Given the description of an element on the screen output the (x, y) to click on. 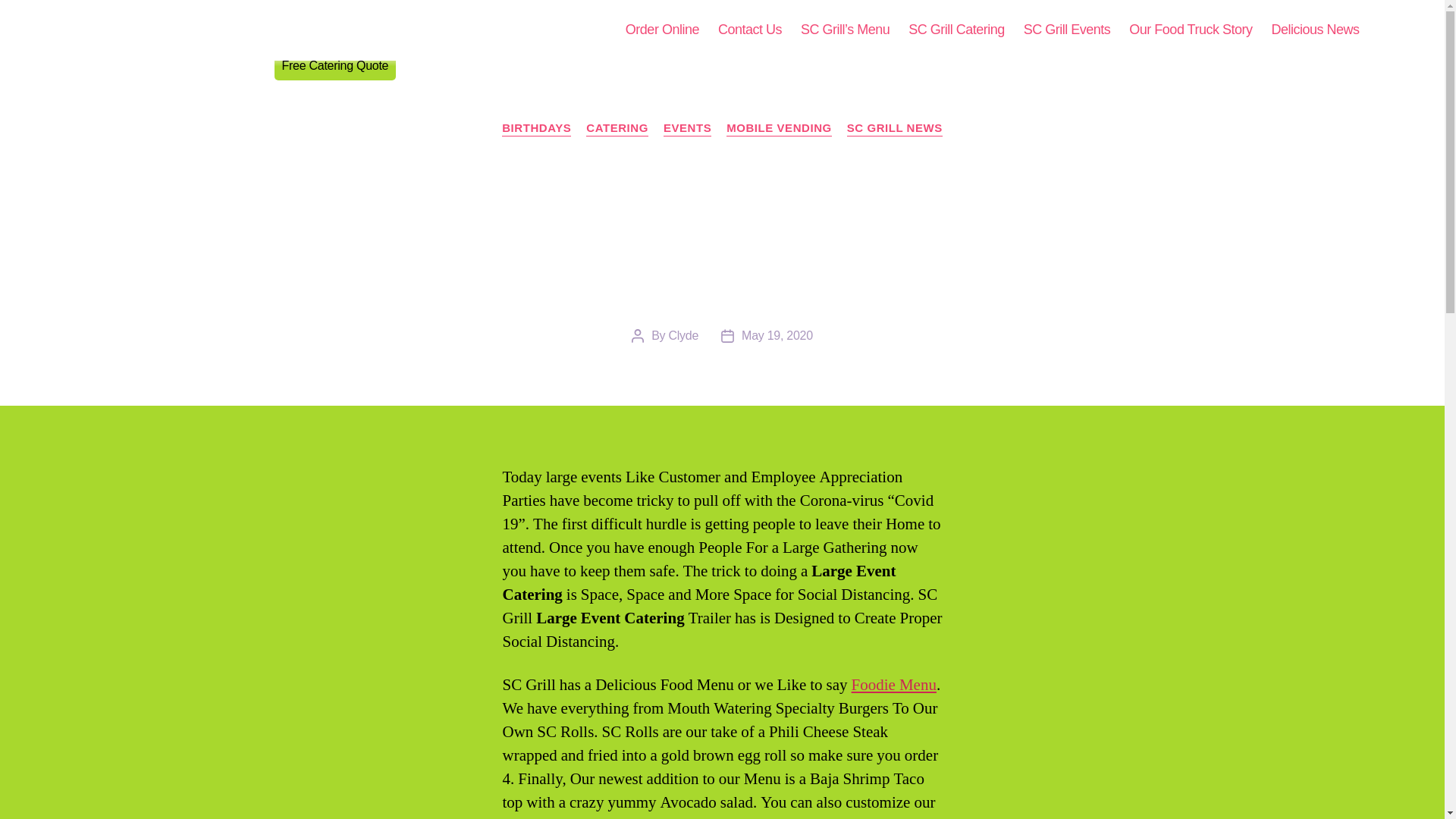
Contact Us (749, 30)
MOBILE VENDING (778, 128)
CATERING (616, 128)
Delicious News (1314, 30)
SC GRILL NEWS (894, 128)
SC Grill Events (1066, 30)
Order Online (662, 30)
Foodie Menu (893, 684)
SC Grill Catering (956, 30)
SC Grill "CLOSED FOR BUSINESS" (226, 30)
EVENTS (687, 128)
May 19, 2020 (776, 335)
BIRTHDAYS (536, 128)
Our Food Truck Story (1190, 30)
Clyde (683, 335)
